Given the description of an element on the screen output the (x, y) to click on. 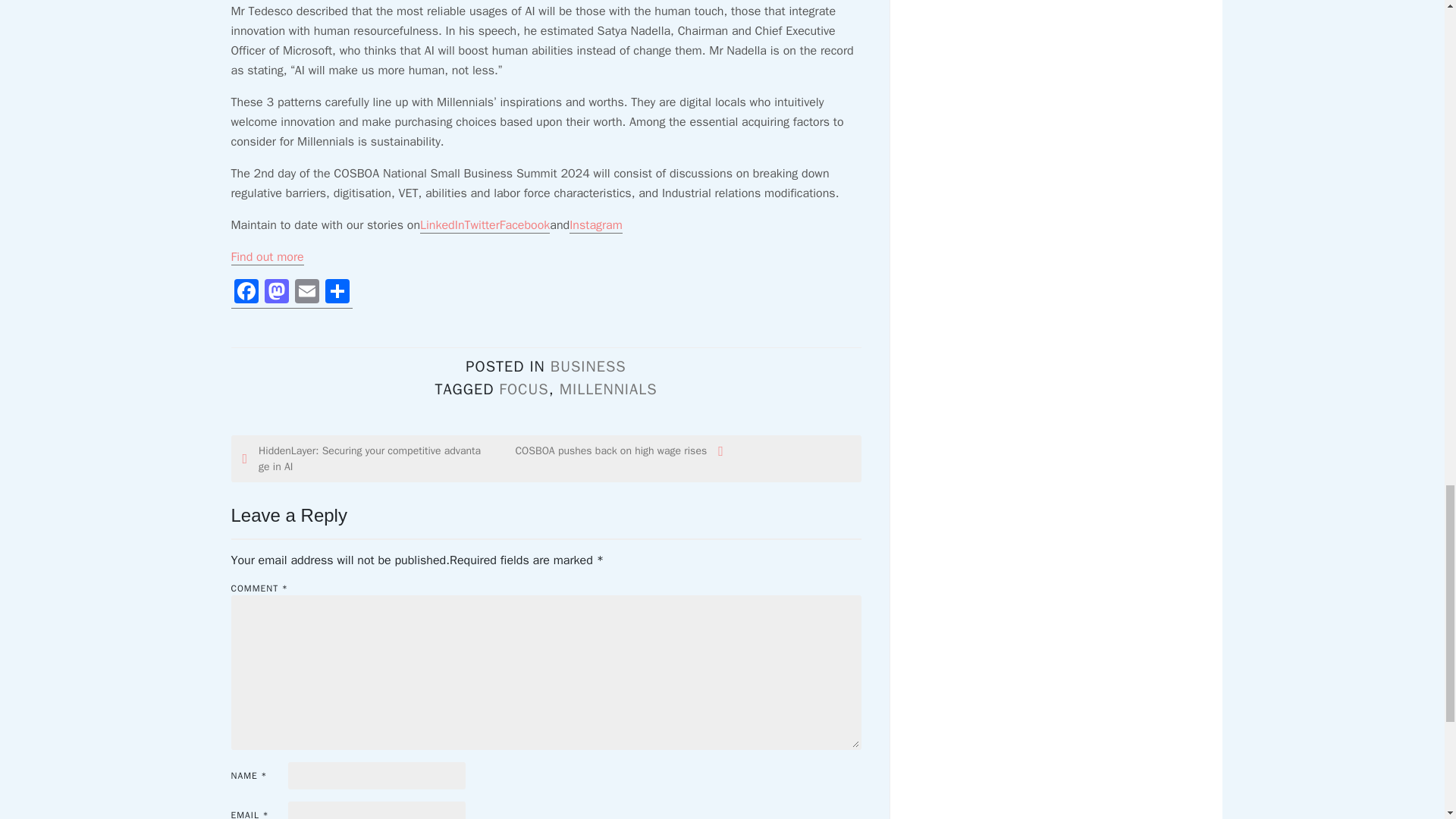
Twitter (481, 225)
LinkedIn (442, 225)
HiddenLayer: Securing your competitive advantage in AI (363, 459)
Instagram (596, 225)
Mastodon (275, 293)
COSBOA pushes back on high wage rises (603, 450)
Email (306, 293)
BUSINESS (588, 366)
FOCUS (523, 389)
MILLENNIALS (608, 389)
